Given the description of an element on the screen output the (x, y) to click on. 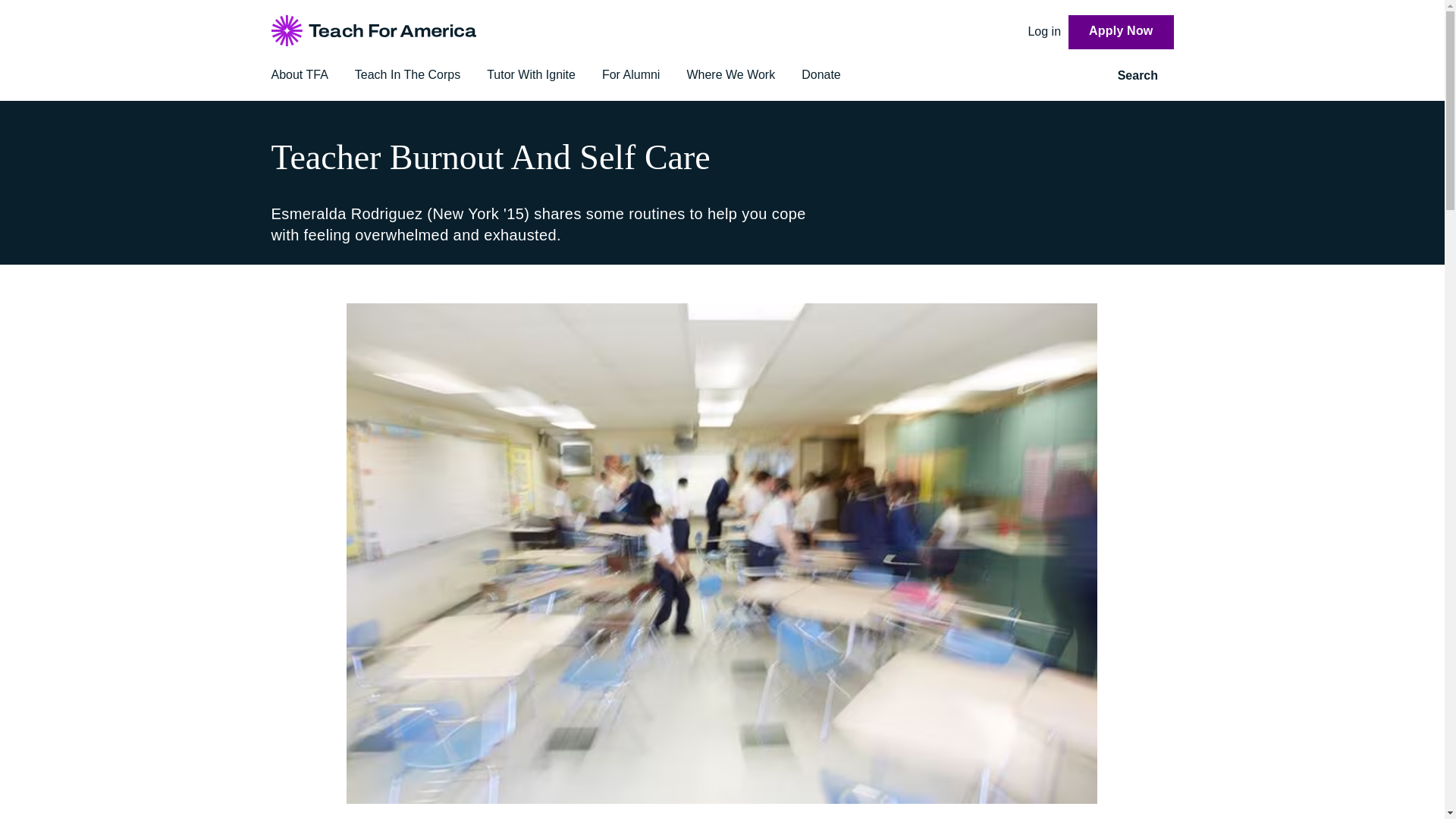
Apply Now (1120, 32)
Log in (1044, 31)
Tutor With Ignite (530, 74)
Donate (821, 74)
Search Search Icon (1145, 75)
Teach In The Corps (407, 74)
For Alumni (630, 74)
Search Icon (1167, 76)
About TFA (299, 74)
